Given the description of an element on the screen output the (x, y) to click on. 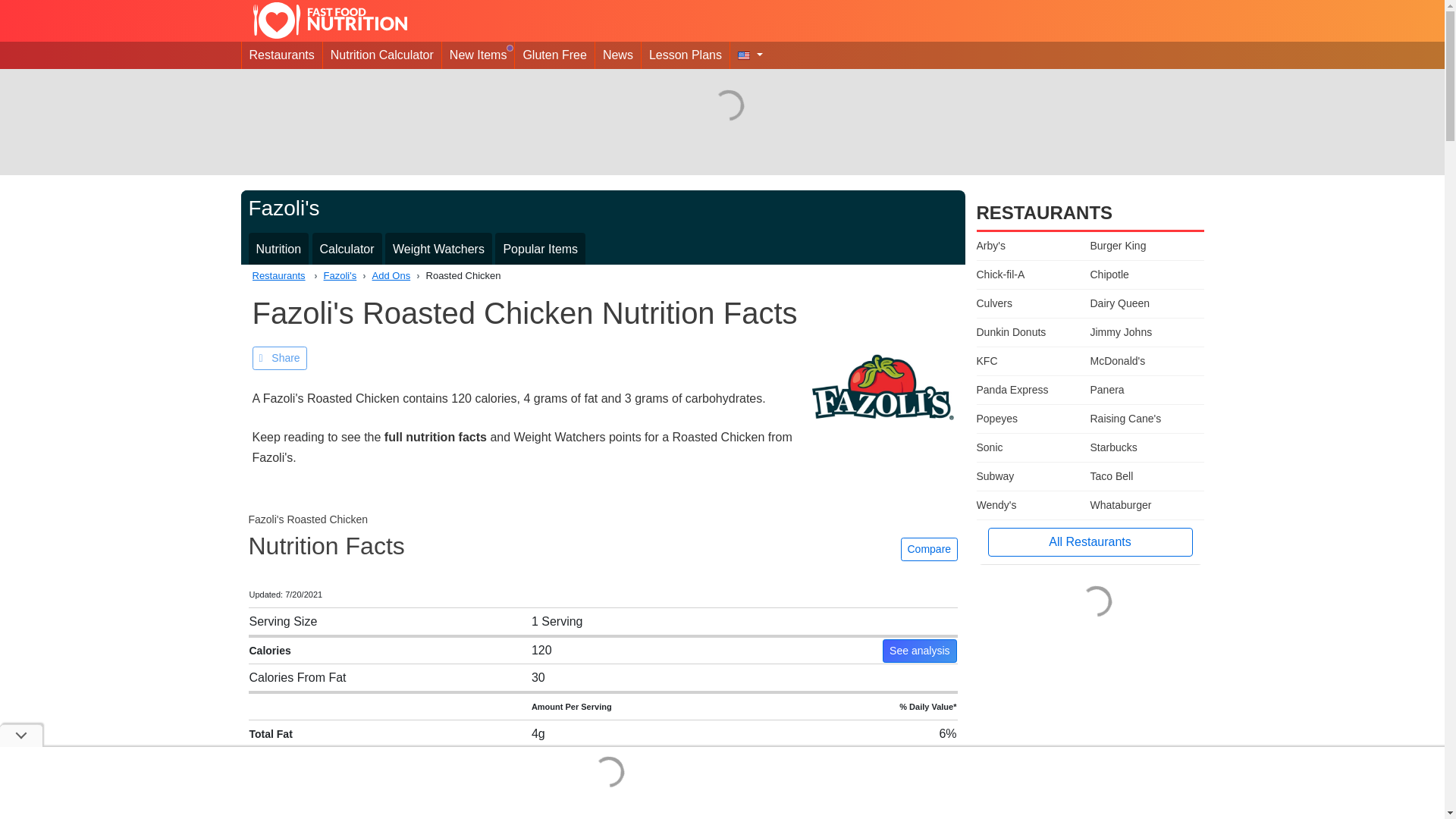
Restaurants (281, 54)
Gluten Free (554, 54)
Fazoli's (331, 275)
Lesson Plans (685, 54)
Add Ons (383, 275)
Weight Watchers (438, 249)
Fast Food Nutrition Nutrition Calculator (382, 54)
Compare (929, 549)
New Items (478, 54)
Serving Size (282, 620)
Calories (268, 649)
Fazoli's Nutrition Calculator (347, 249)
See analysis (919, 649)
Restaurant Gluten Free Menus (554, 54)
Fazoli's Nutrition (278, 249)
